Given the description of an element on the screen output the (x, y) to click on. 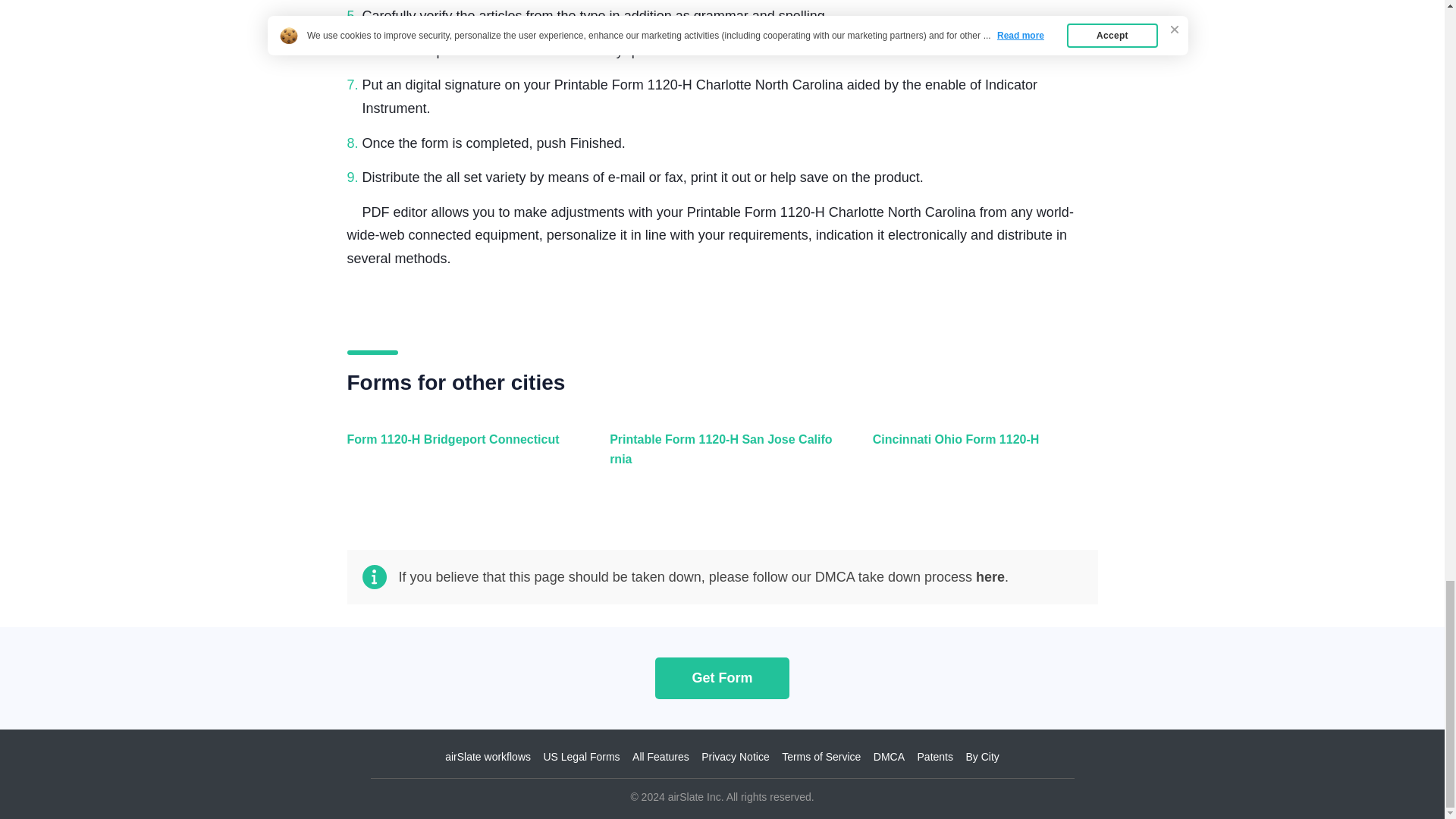
All Features (659, 756)
Privacy Notice (734, 756)
Cincinnati Ohio Form 1120-H (981, 457)
US Legal Forms (581, 756)
airSlate workflows (488, 756)
here (989, 576)
Get Form (722, 677)
Terms of Service (820, 756)
By City (981, 756)
Form 1120-H Bridgeport Connecticut (456, 457)
DMCA (888, 756)
Printable Form 1120-H San Jose California (718, 457)
Patents (935, 756)
